Given the description of an element on the screen output the (x, y) to click on. 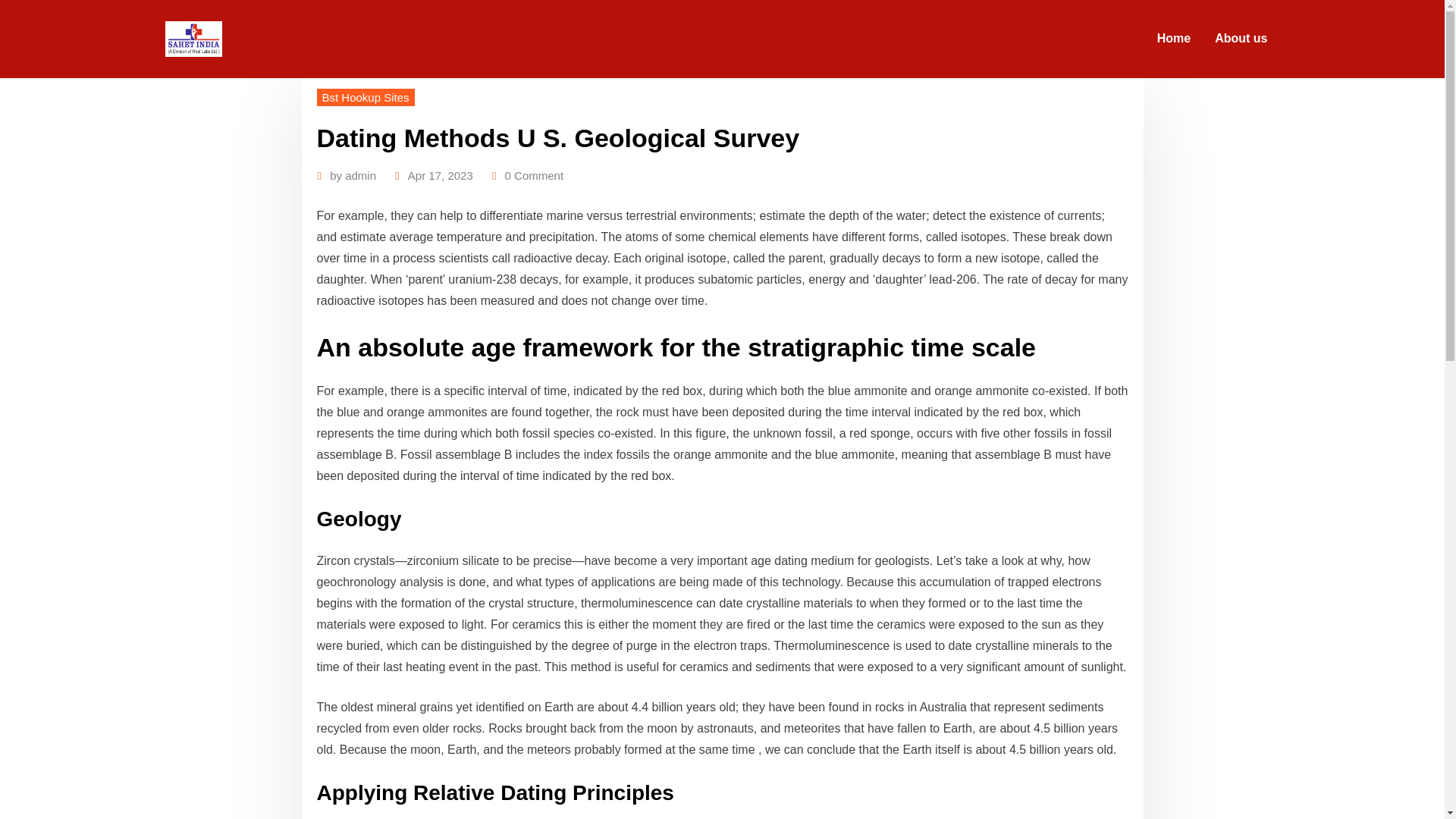
Apr 17, 2023 (440, 175)
0 Comment (534, 175)
About us (1240, 38)
by admin (352, 175)
Bst Hookup Sites (365, 97)
